Given the description of an element on the screen output the (x, y) to click on. 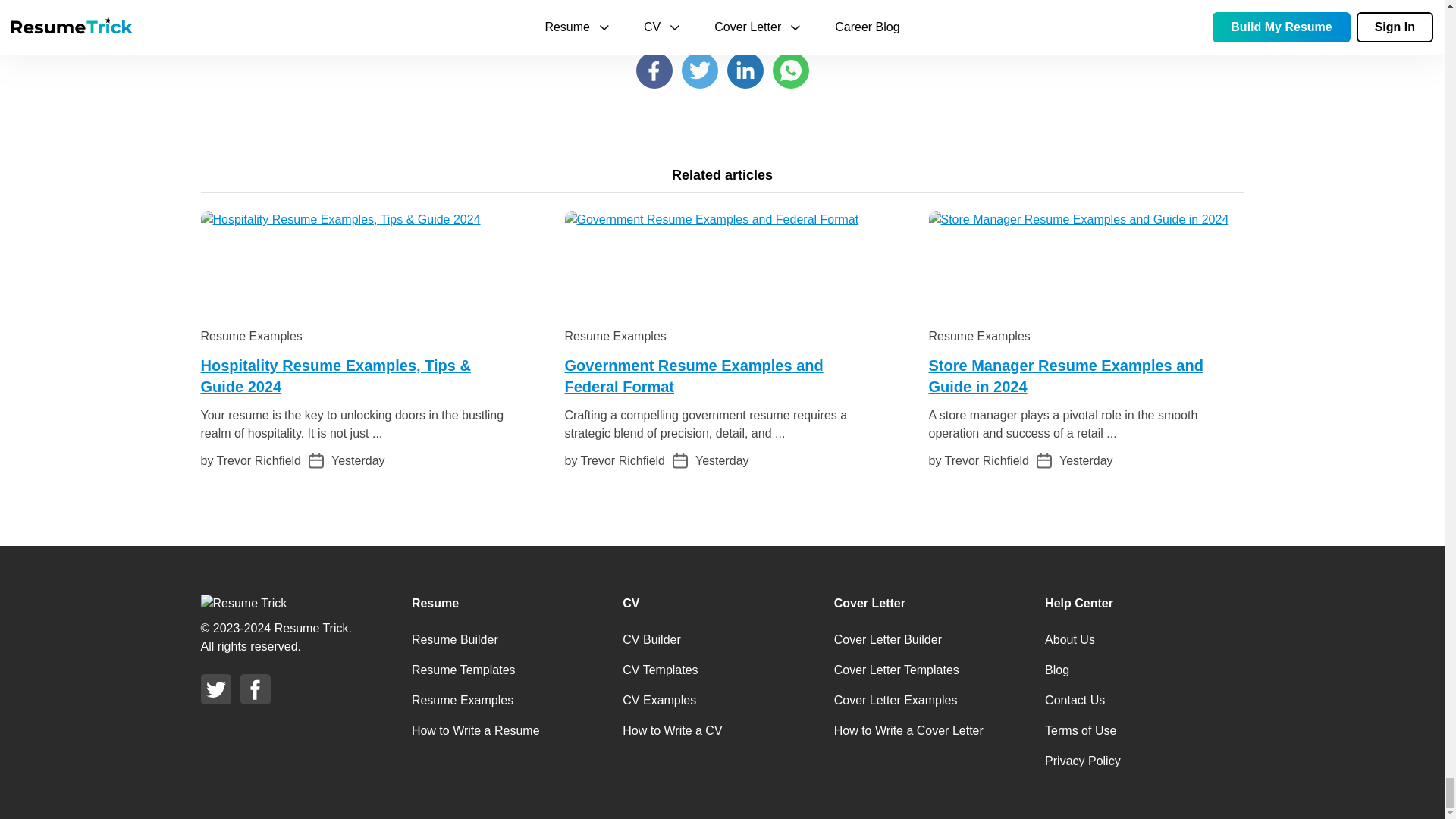
Resume Trick (243, 602)
